Given the description of an element on the screen output the (x, y) to click on. 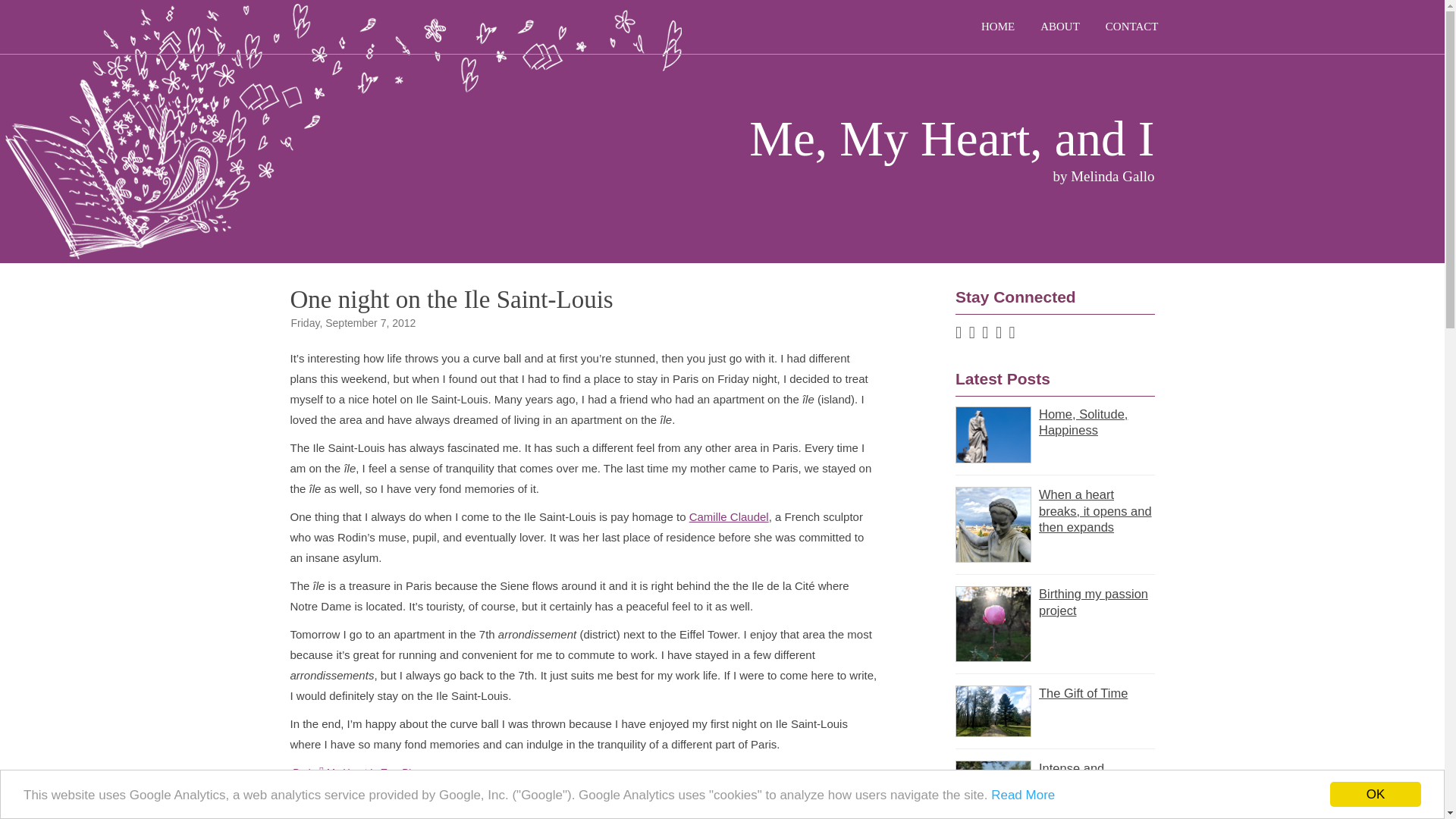
 My Heart In Two Places (375, 772)
Camille Claudel (728, 516)
ABOUT (1054, 27)
About (1054, 27)
Intense and beautiful transformations (1054, 784)
Home (992, 27)
CONTACT (1126, 27)
Contact (1126, 27)
Home, Solitude, Happiness (1054, 422)
The Gift of Time (1054, 693)
When a heart breaks, it opens and then expands (1054, 510)
HOME (992, 27)
Birthing my passion project (1054, 602)
 Paris (302, 772)
